Given the description of an element on the screen output the (x, y) to click on. 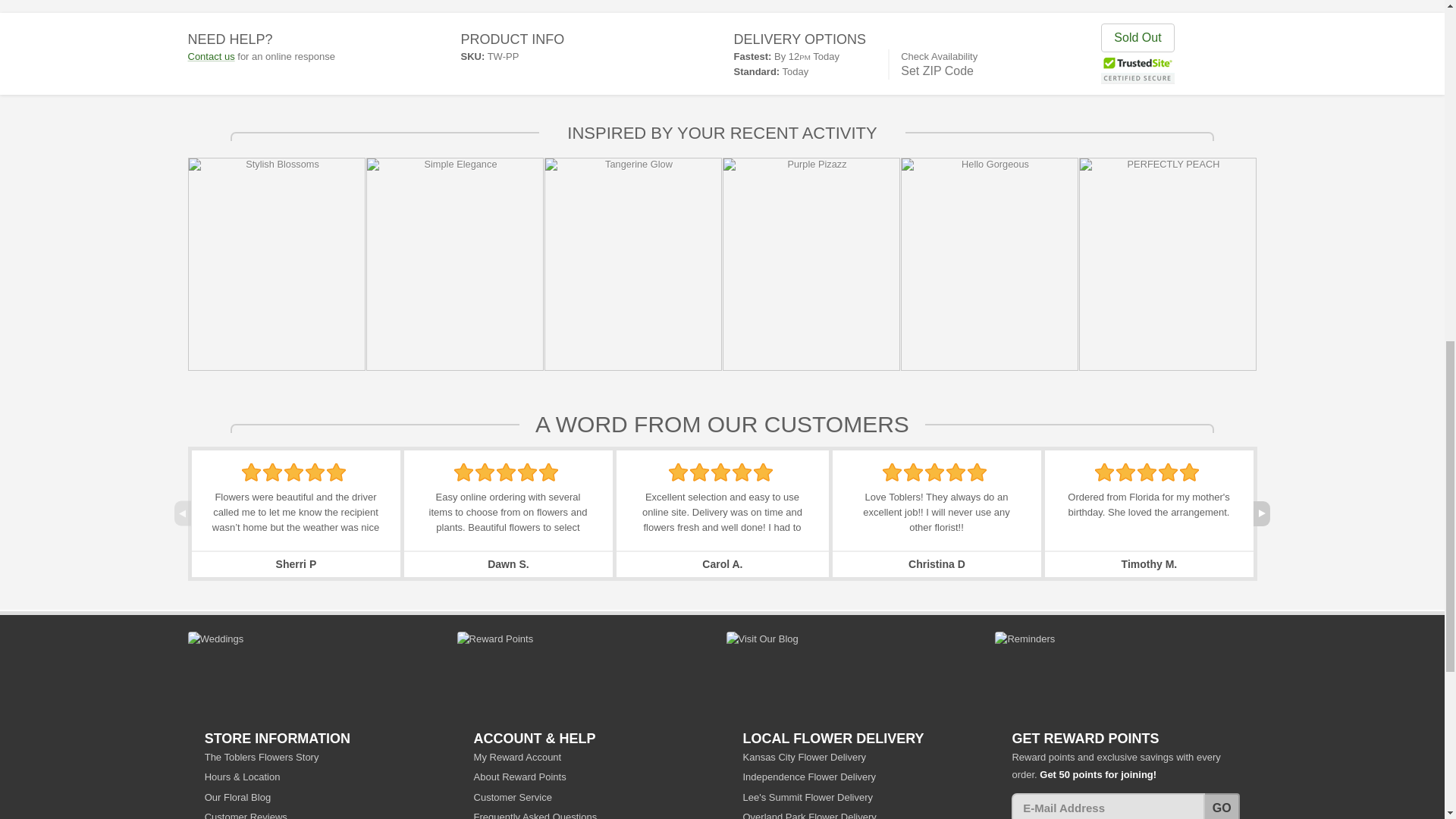
Full Star (336, 472)
Full Star (505, 472)
Full Star (485, 472)
Full Star (250, 472)
Full Star (527, 472)
Full Star (463, 472)
Full Star (314, 472)
Full Star (547, 472)
Full Star (292, 472)
Full Star (677, 472)
Full Star (272, 472)
